Given the description of an element on the screen output the (x, y) to click on. 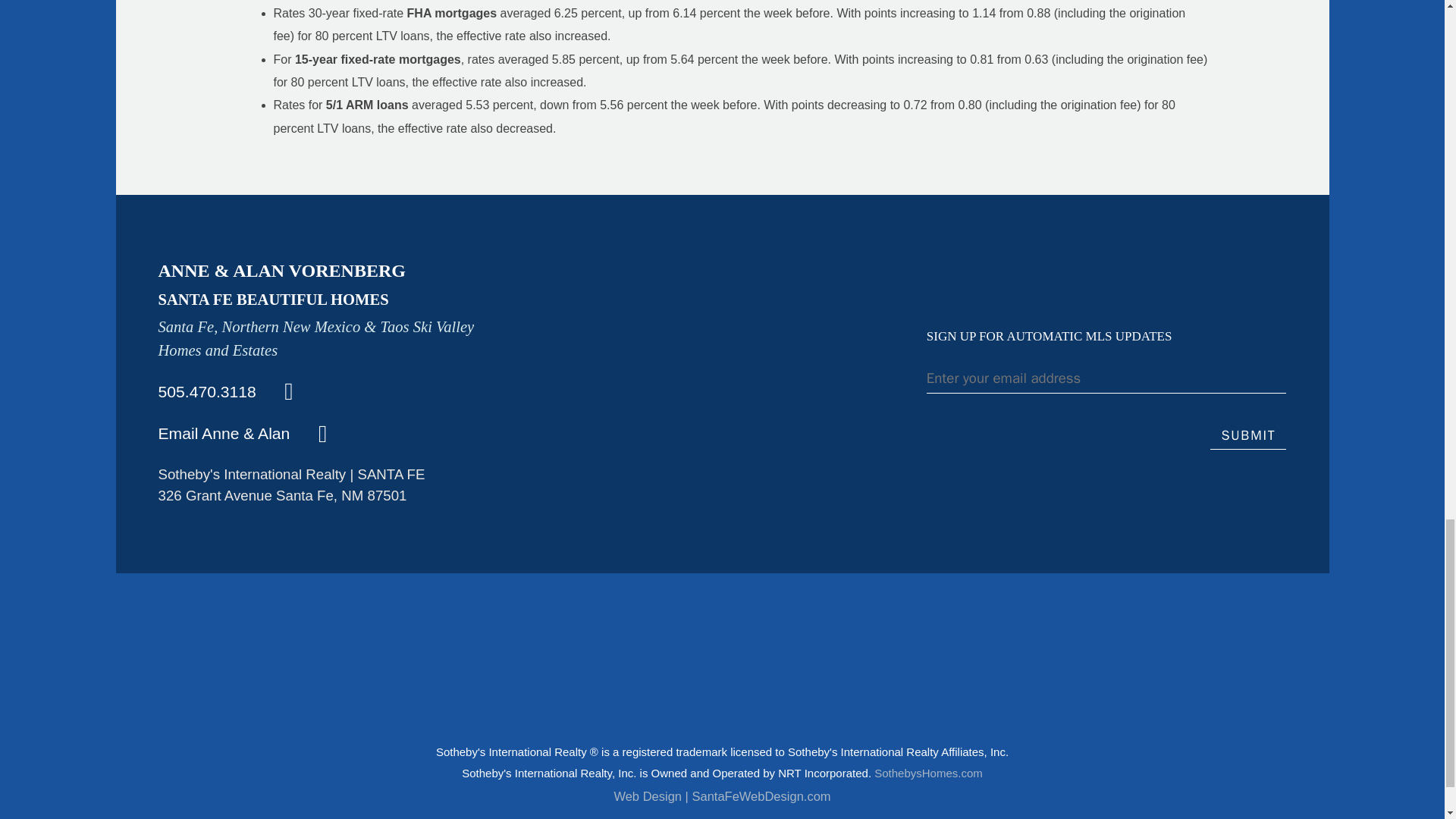
submit (1247, 436)
SothebysHomes.com (928, 772)
submit (1247, 436)
505.470.3118 (226, 390)
